Given the description of an element on the screen output the (x, y) to click on. 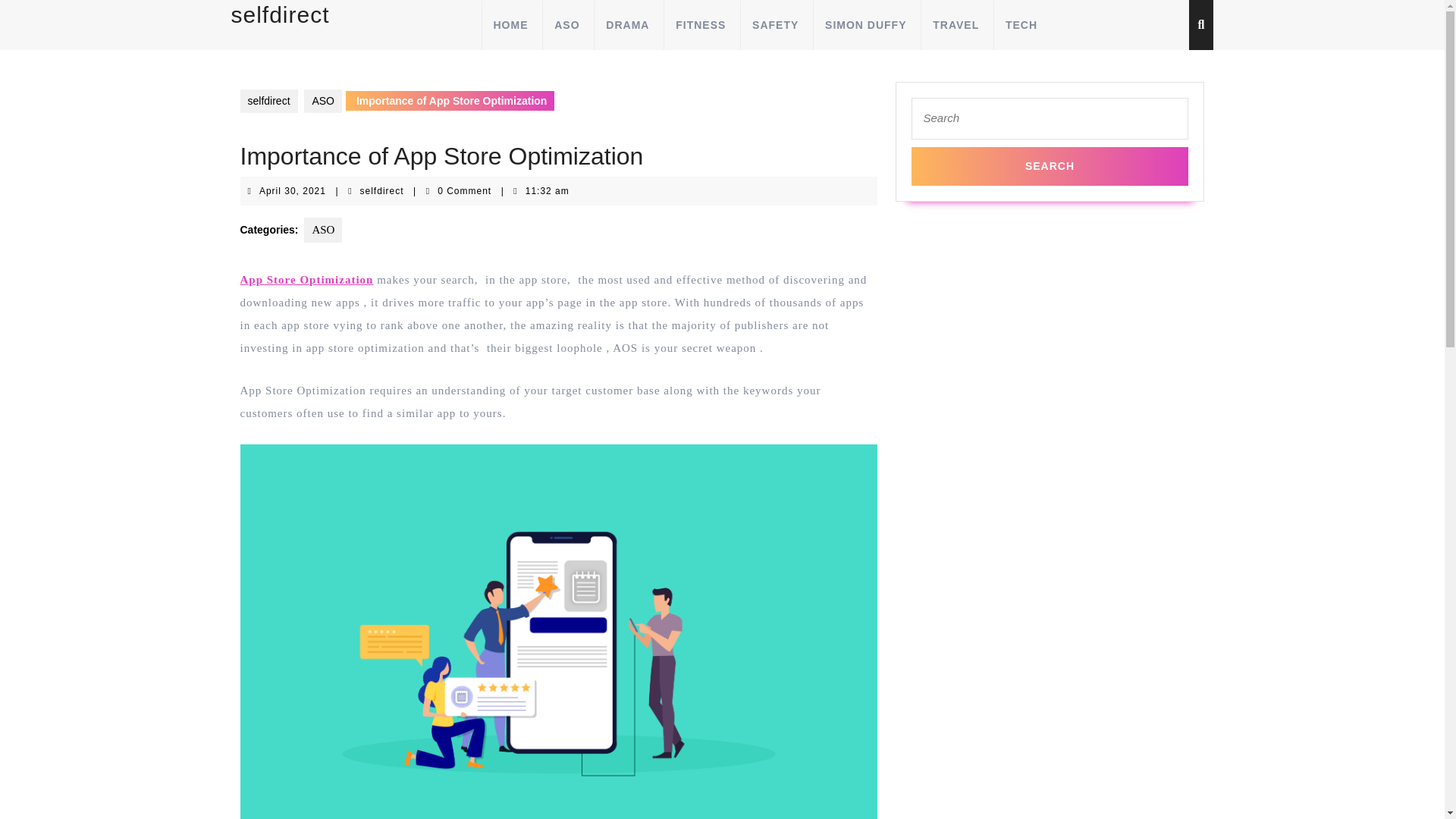
SAFETY (774, 24)
selfdirect (381, 190)
TRAVEL (292, 190)
FITNESS (279, 14)
SIMON DUFFY (955, 24)
Search (699, 24)
Search (864, 24)
DRAMA (1050, 166)
ASO (1050, 166)
HOME (627, 24)
ASO (323, 101)
ASO (509, 24)
TECH (323, 229)
